Given the description of an element on the screen output the (x, y) to click on. 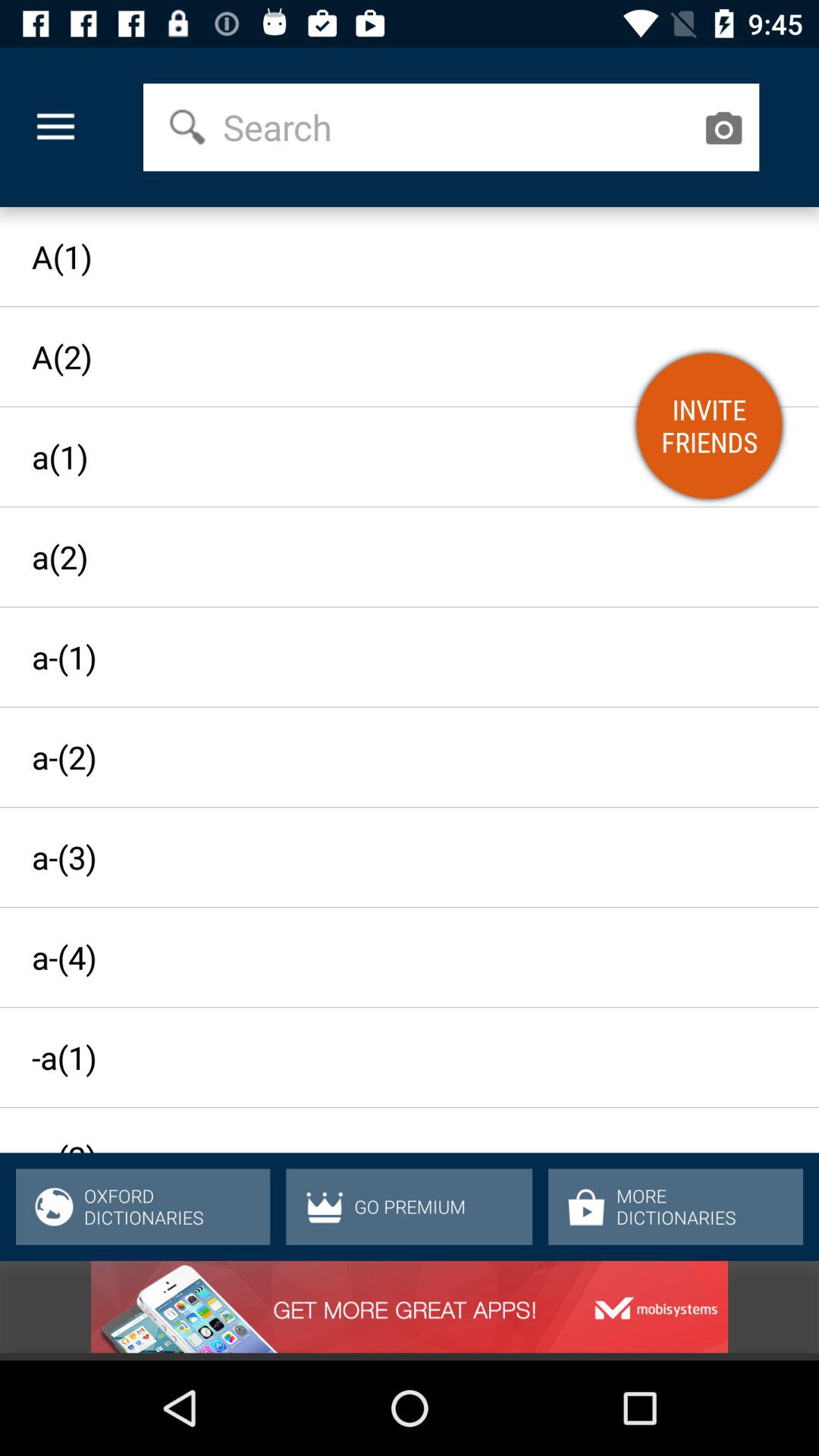
swipe to the a-(4) item (395, 957)
